Given the description of an element on the screen output the (x, y) to click on. 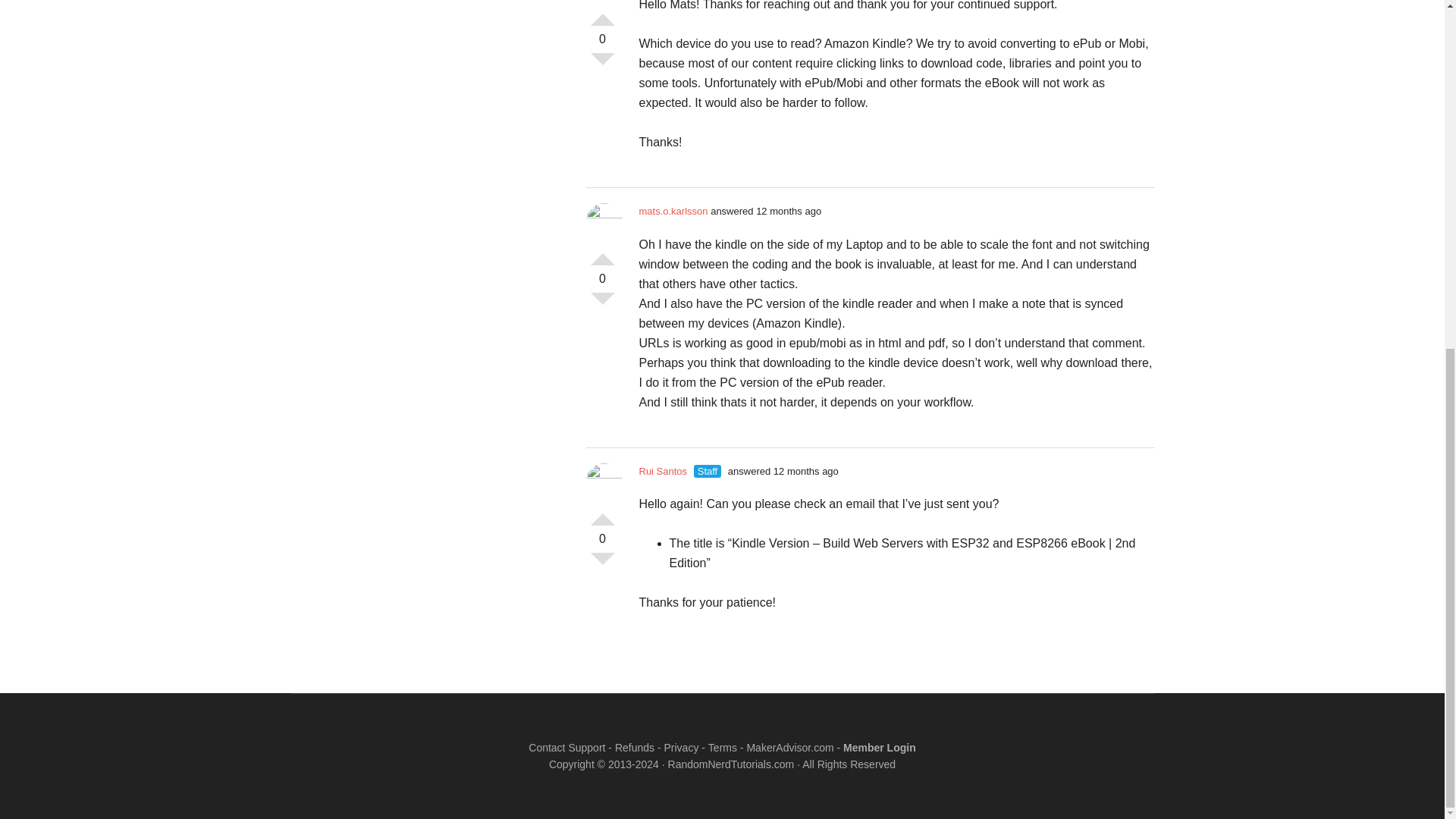
Member Login (879, 747)
Vote Up (601, 13)
Rui Santos (663, 470)
Vote Down (601, 304)
Contact Support (566, 747)
RandomNerdTutorials.com (731, 764)
mats.o.karlsson (673, 211)
Refunds (633, 747)
Terms (721, 747)
Vote Down (601, 64)
Vote Up (601, 252)
Privacy (680, 747)
Vote Down (601, 564)
MakerAdvisor.com (788, 747)
Vote Up (601, 513)
